Given the description of an element on the screen output the (x, y) to click on. 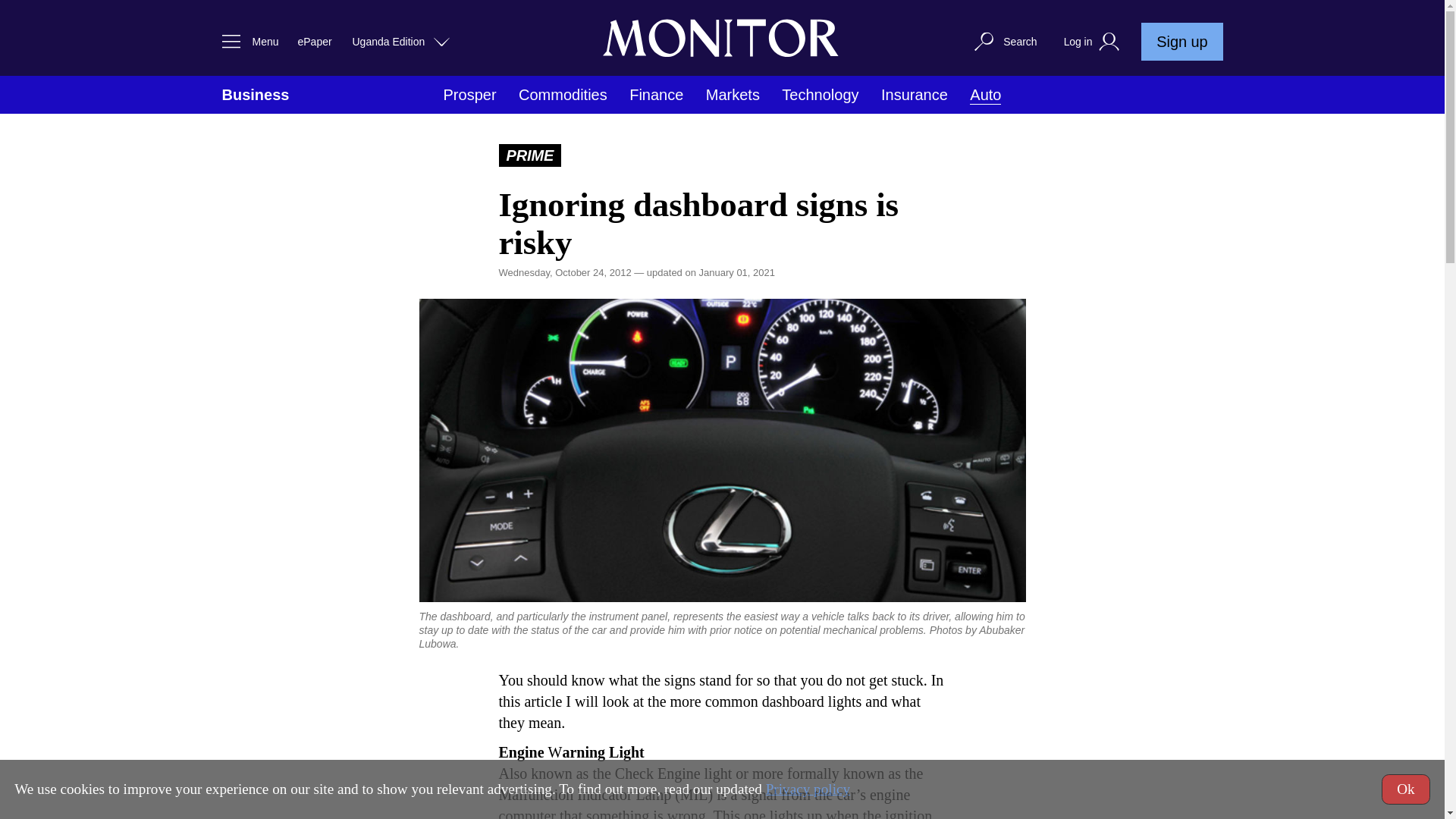
ePaper (314, 41)
Commodities (562, 94)
Uganda Edition (401, 41)
Search (1003, 41)
Business (254, 94)
Menu (246, 41)
Prosper (470, 94)
Sign up (1182, 41)
Privacy policy (807, 788)
Privacy policy (807, 788)
Technology (820, 94)
Log in (1094, 41)
Insurance (913, 94)
Ok (1405, 788)
Markets (733, 94)
